Given the description of an element on the screen output the (x, y) to click on. 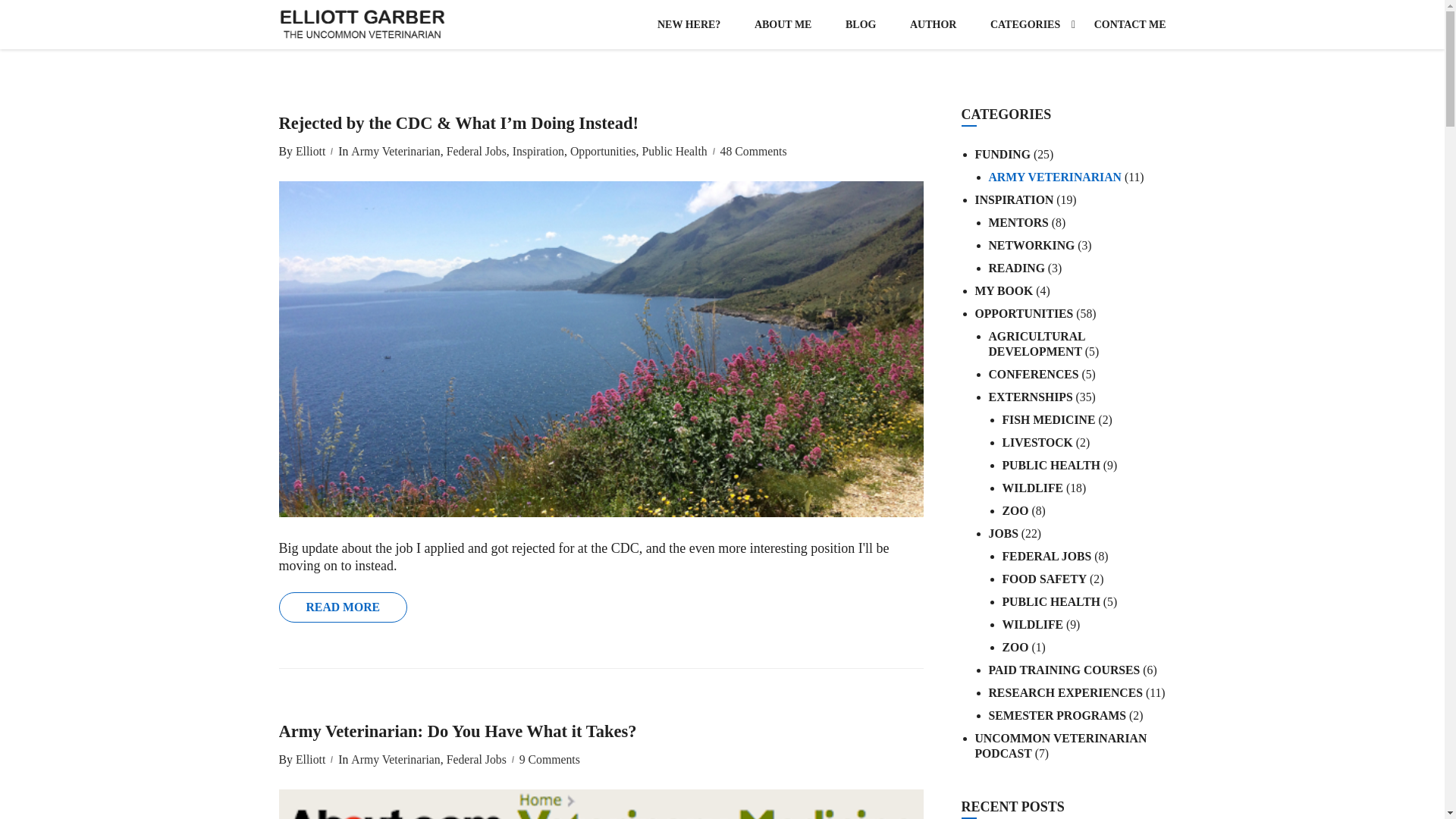
Elliott Garber - The Uncommon Veterinarian (362, 24)
CATEGORIES (1025, 24)
ABOUT ME (783, 24)
READ MORE (343, 607)
BLOG (860, 24)
Opportunities (601, 151)
Inspiration (536, 151)
NEW HERE? (688, 24)
CONTACT ME (1122, 24)
Elliott (308, 151)
Public Health (672, 151)
Army Veterinarian (393, 151)
48 Comments (753, 151)
Federal Jobs (475, 151)
AUTHOR (933, 24)
